Given the description of an element on the screen output the (x, y) to click on. 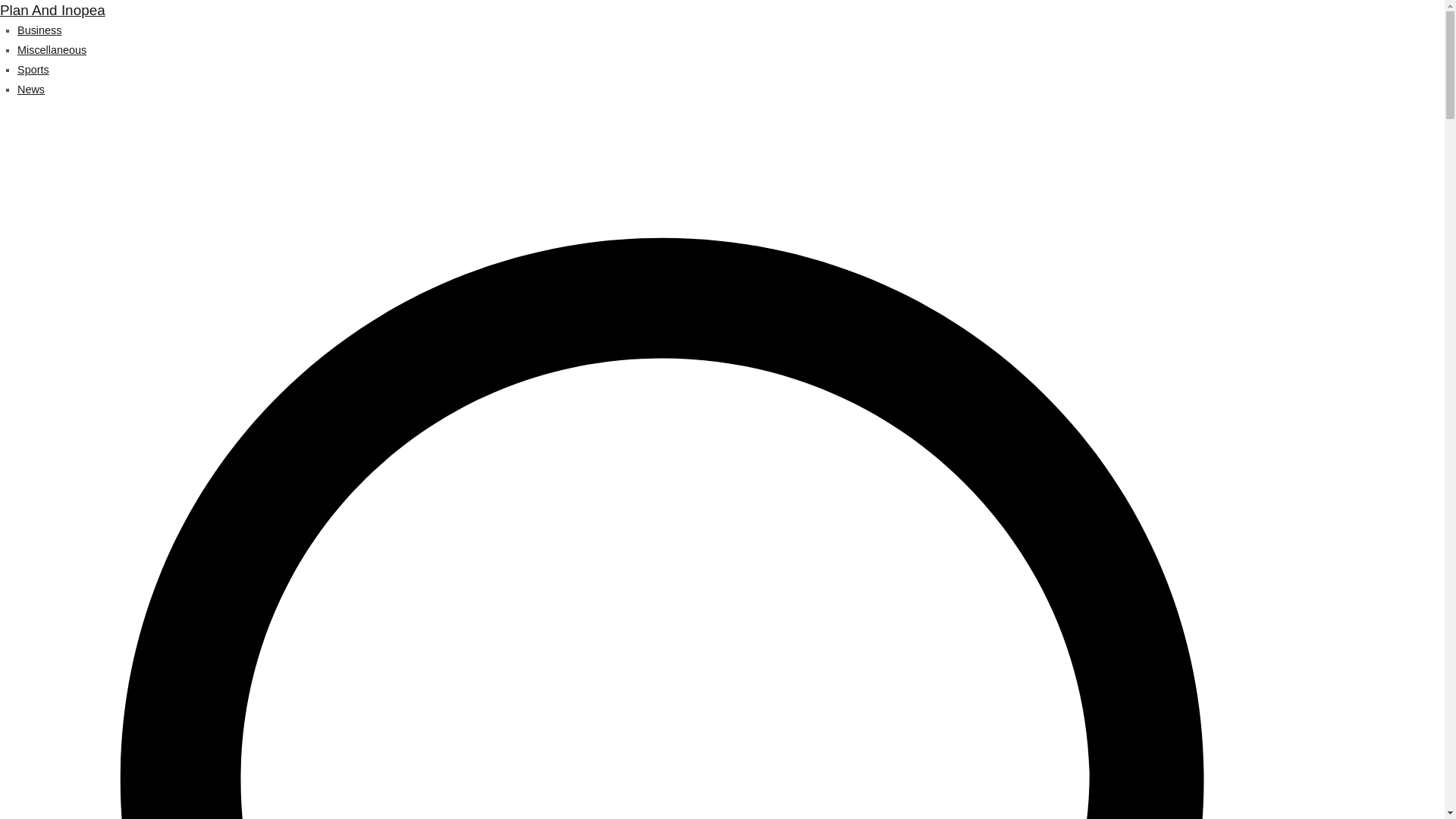
Plan And Inopea (52, 10)
Miscellaneous (51, 50)
Business (39, 30)
News (31, 89)
Sports (33, 69)
